Given the description of an element on the screen output the (x, y) to click on. 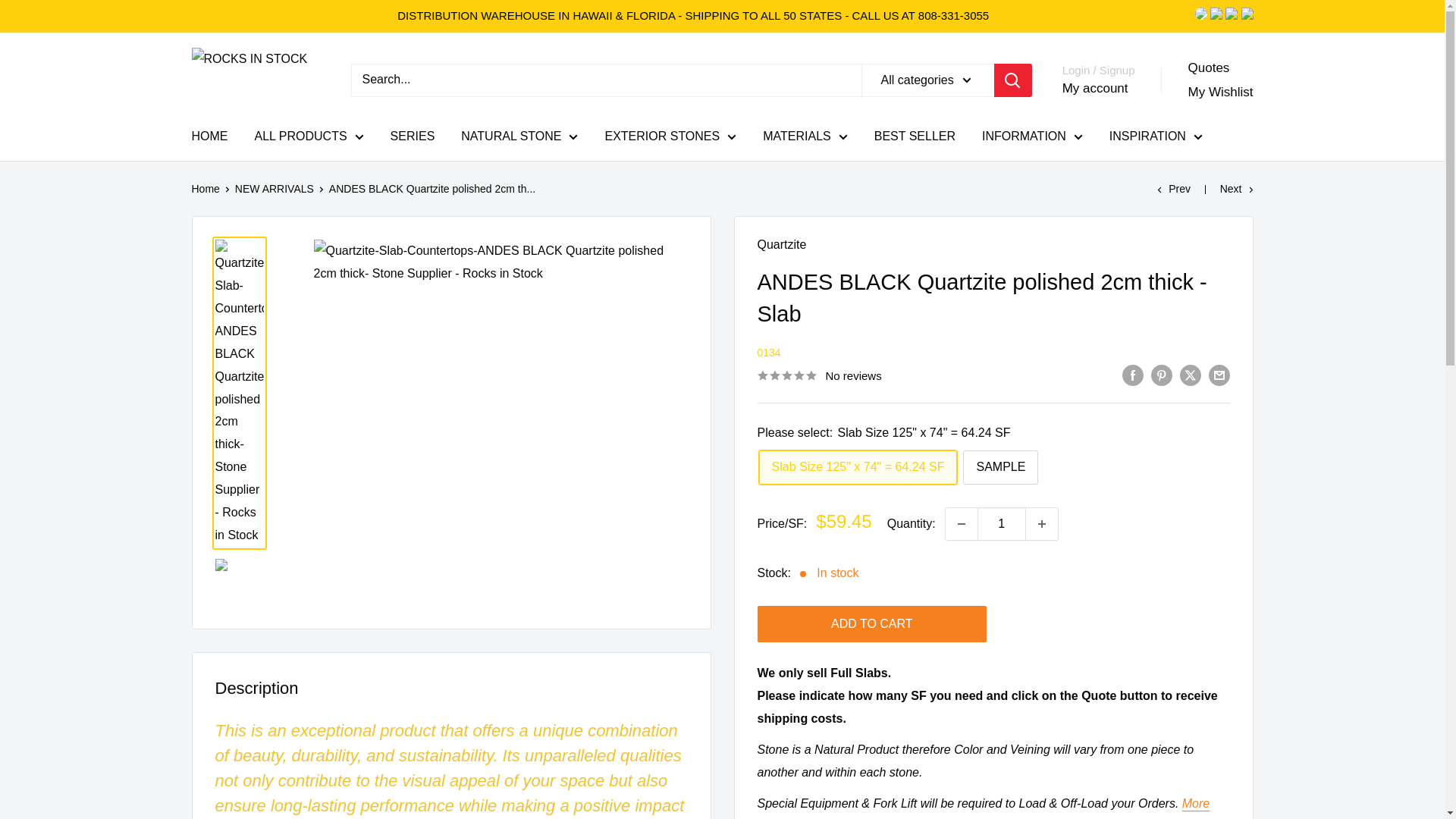
Decrease quantity by 1 (960, 523)
Increase quantity by 1 (1042, 523)
SAMPLE (1000, 467)
1 (1001, 523)
